Given the description of an element on the screen output the (x, y) to click on. 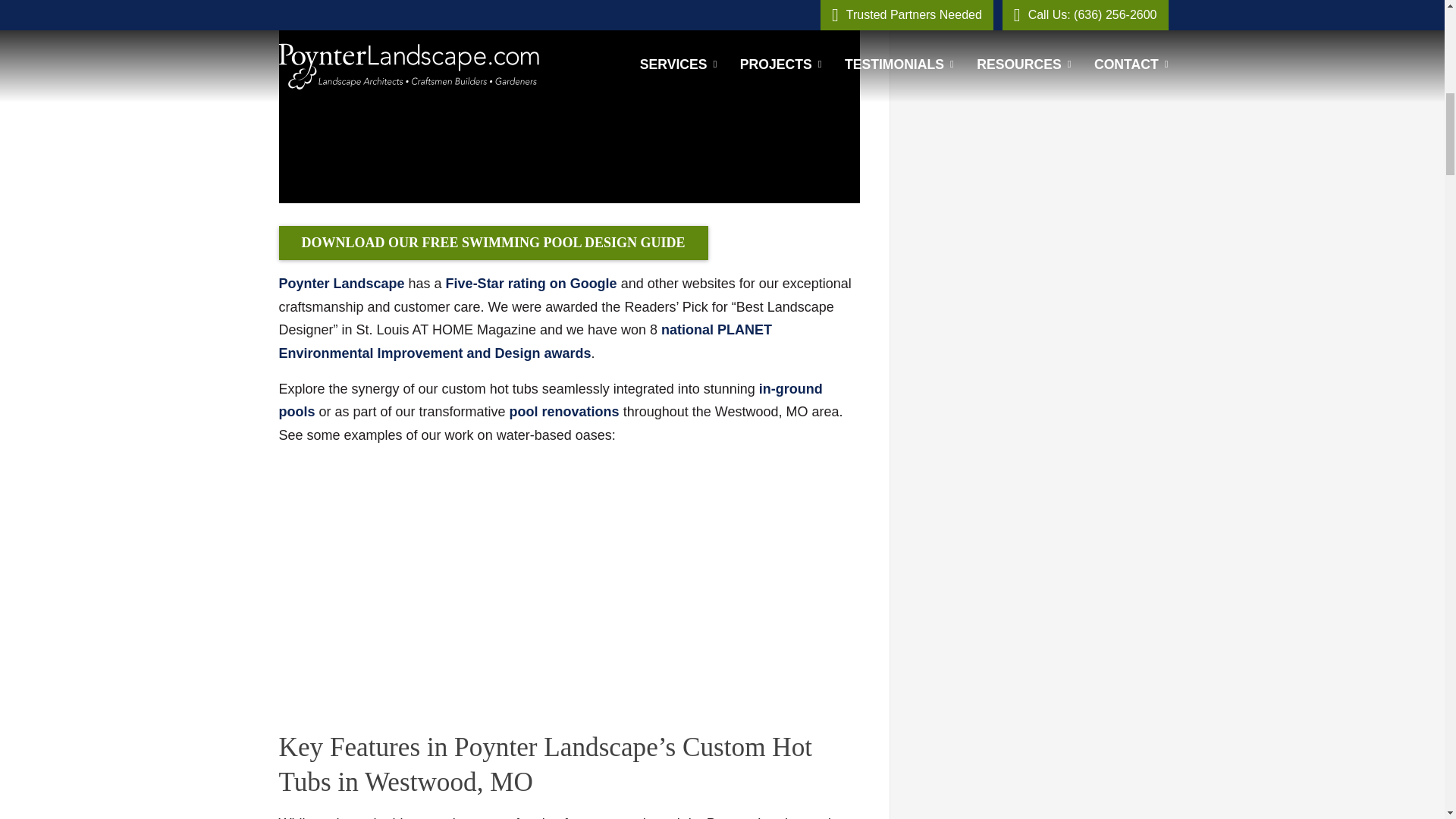
Custom Hot Tubs Westwood, MO - Google (531, 283)
Custom Hot Tubs Westwood, MO - NALP (526, 341)
